Given the description of an element on the screen output the (x, y) to click on. 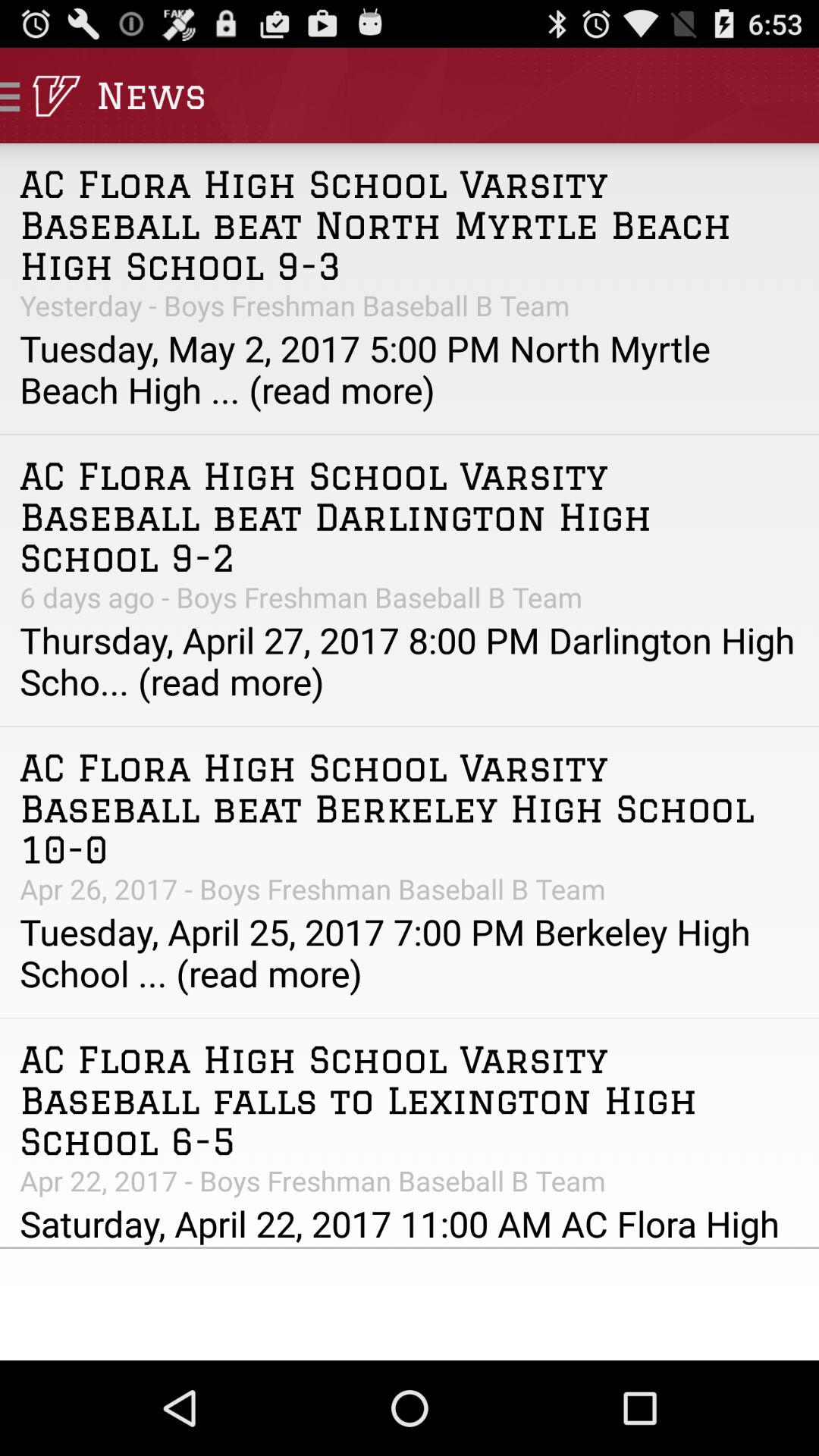
open the app above the thursday april 27 icon (409, 596)
